Given the description of an element on the screen output the (x, y) to click on. 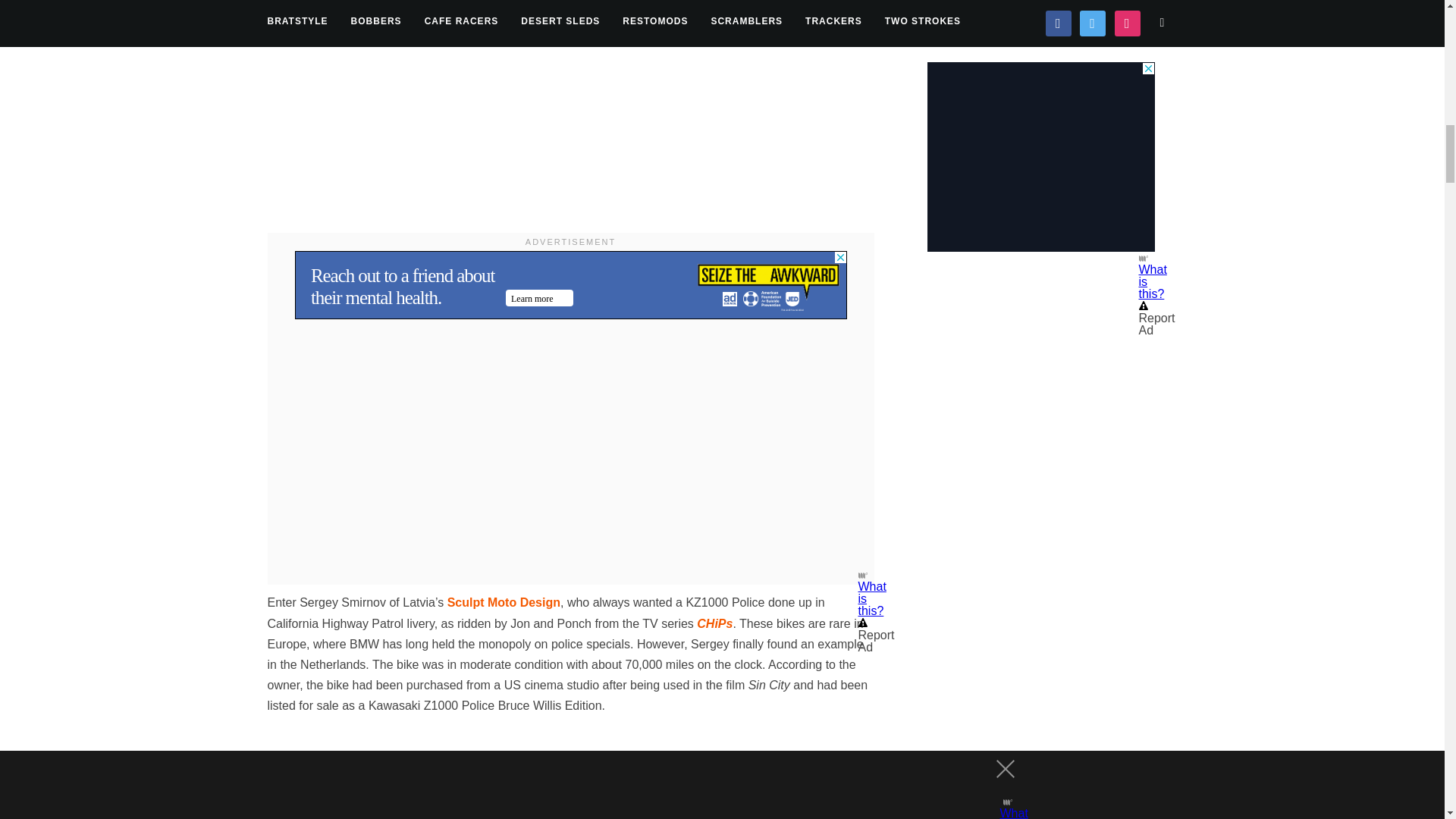
3rd party ad content (569, 284)
